Given the description of an element on the screen output the (x, y) to click on. 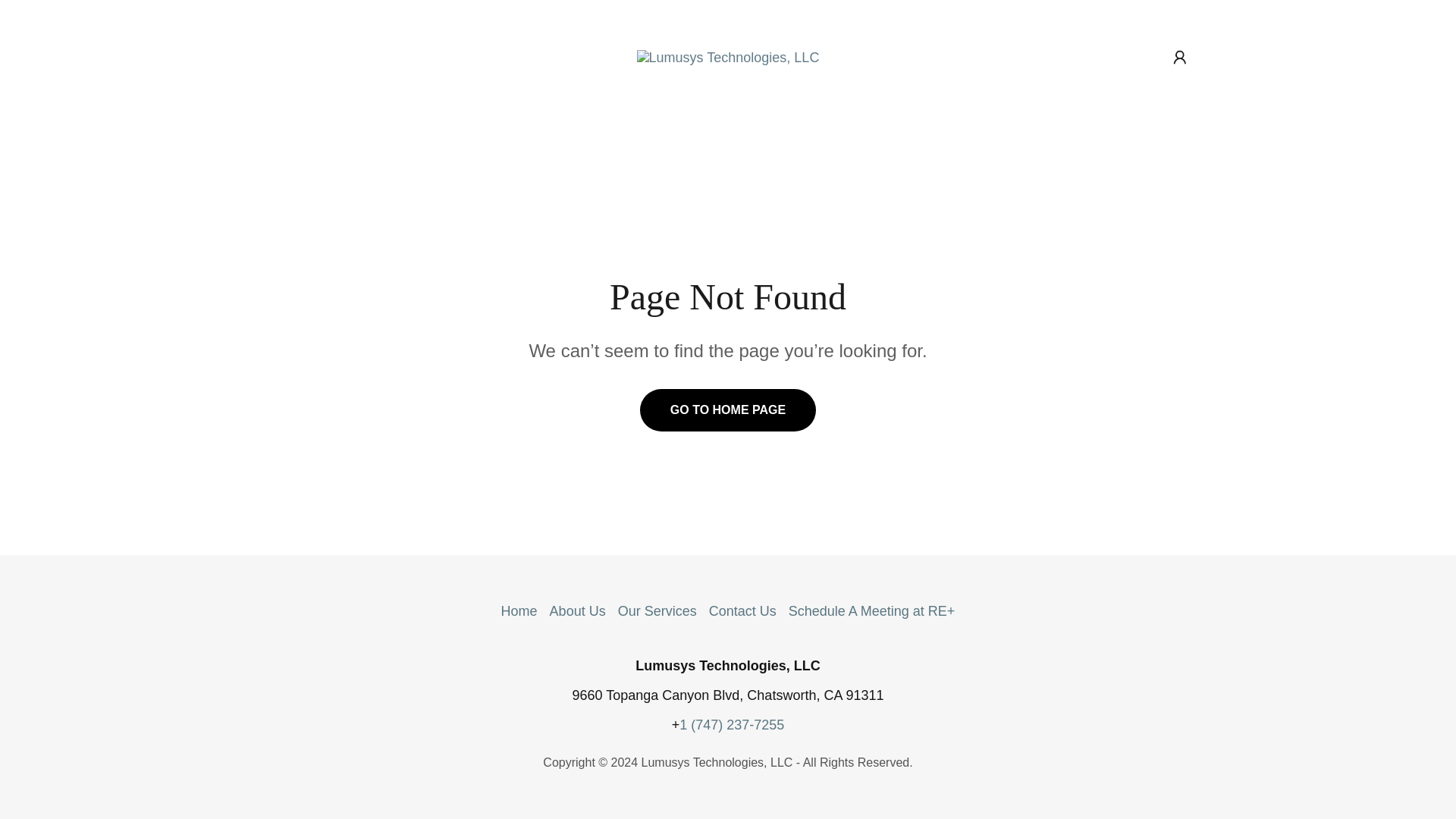
Lumusys Technologies, LLC (728, 56)
Home (519, 611)
GO TO HOME PAGE (727, 410)
